Given the description of an element on the screen output the (x, y) to click on. 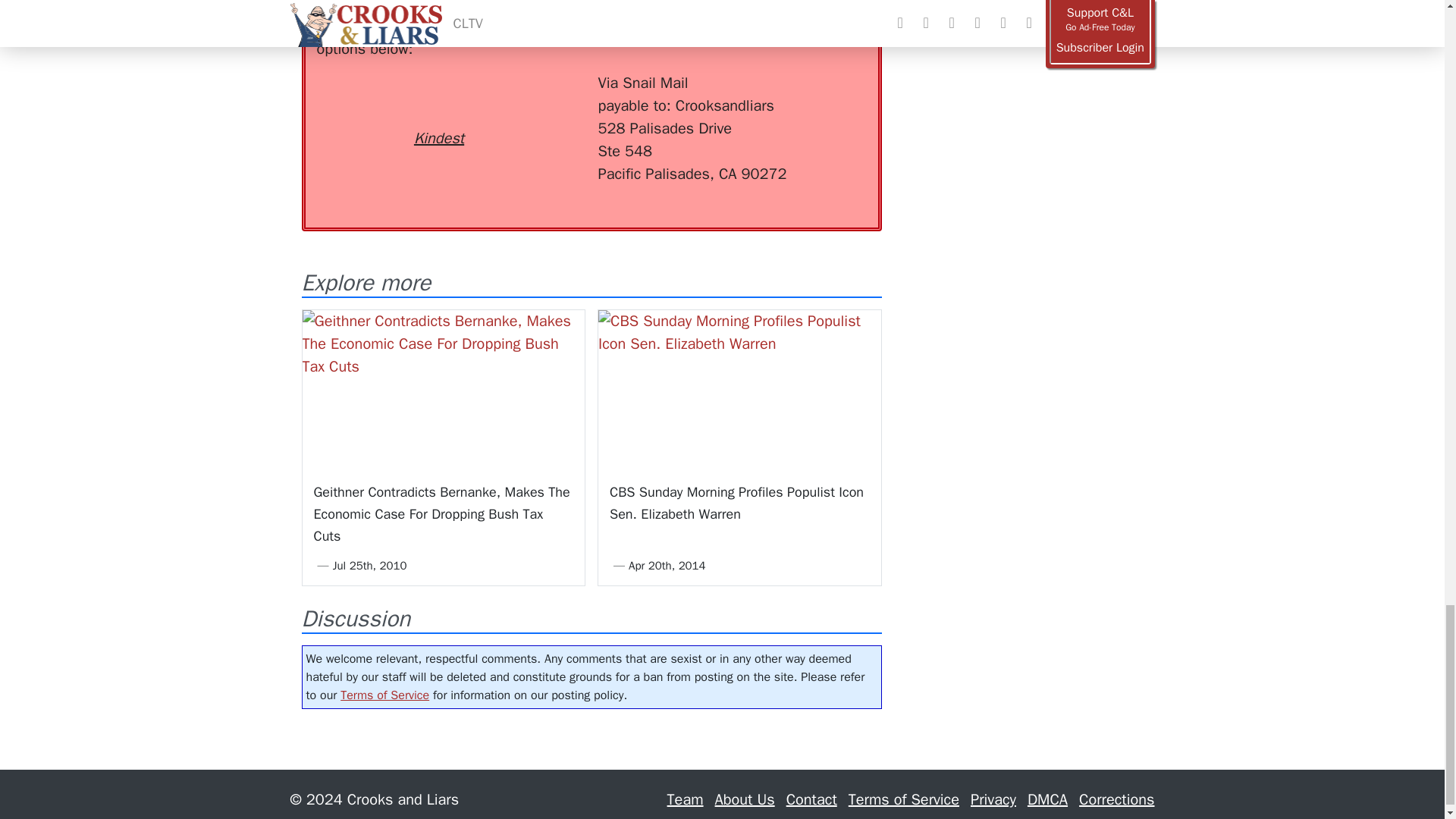
Donate via Kindest (438, 110)
Donate via PayPal (540, 99)
